Given the description of an element on the screen output the (x, y) to click on. 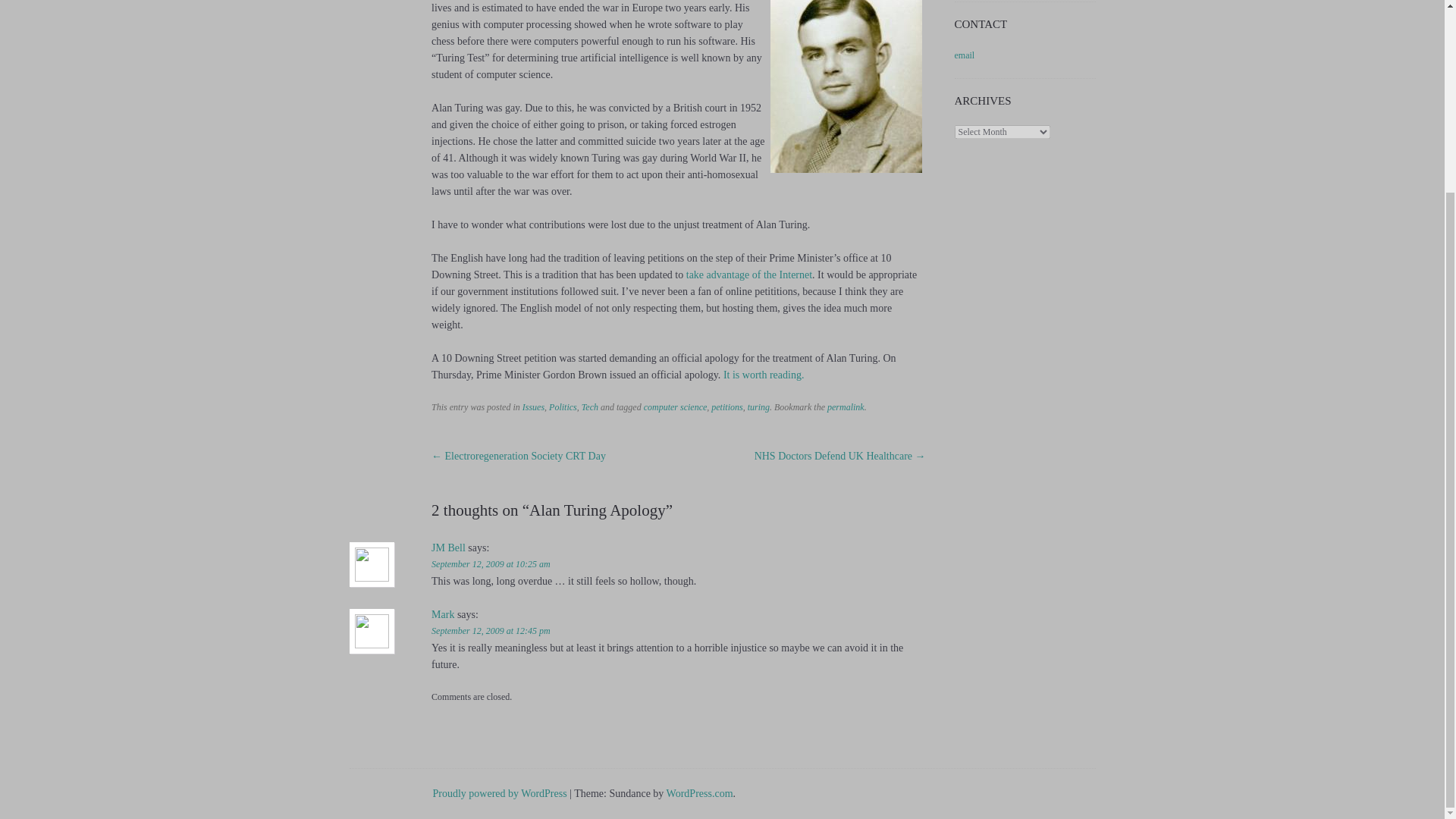
petitions (726, 407)
Mark (442, 614)
take advantage of the Internet (748, 274)
Politics (562, 407)
September 12, 2009 at 12:45 pm (490, 630)
Permalink to Alan Turing Apology (845, 407)
Issues (533, 407)
JM Bell (447, 547)
Tech (589, 407)
WordPress.com (699, 793)
email (965, 54)
turing (759, 407)
A Semantic Personal Publishing Platform (499, 793)
computer science (675, 407)
Proudly powered by WordPress (499, 793)
